Given the description of an element on the screen output the (x, y) to click on. 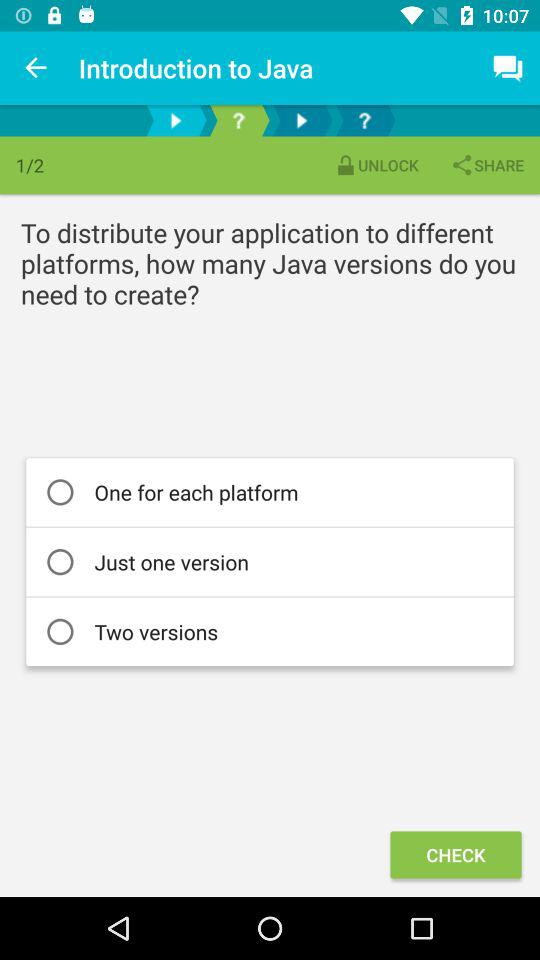
select the item above to distribute your (375, 164)
